Given the description of an element on the screen output the (x, y) to click on. 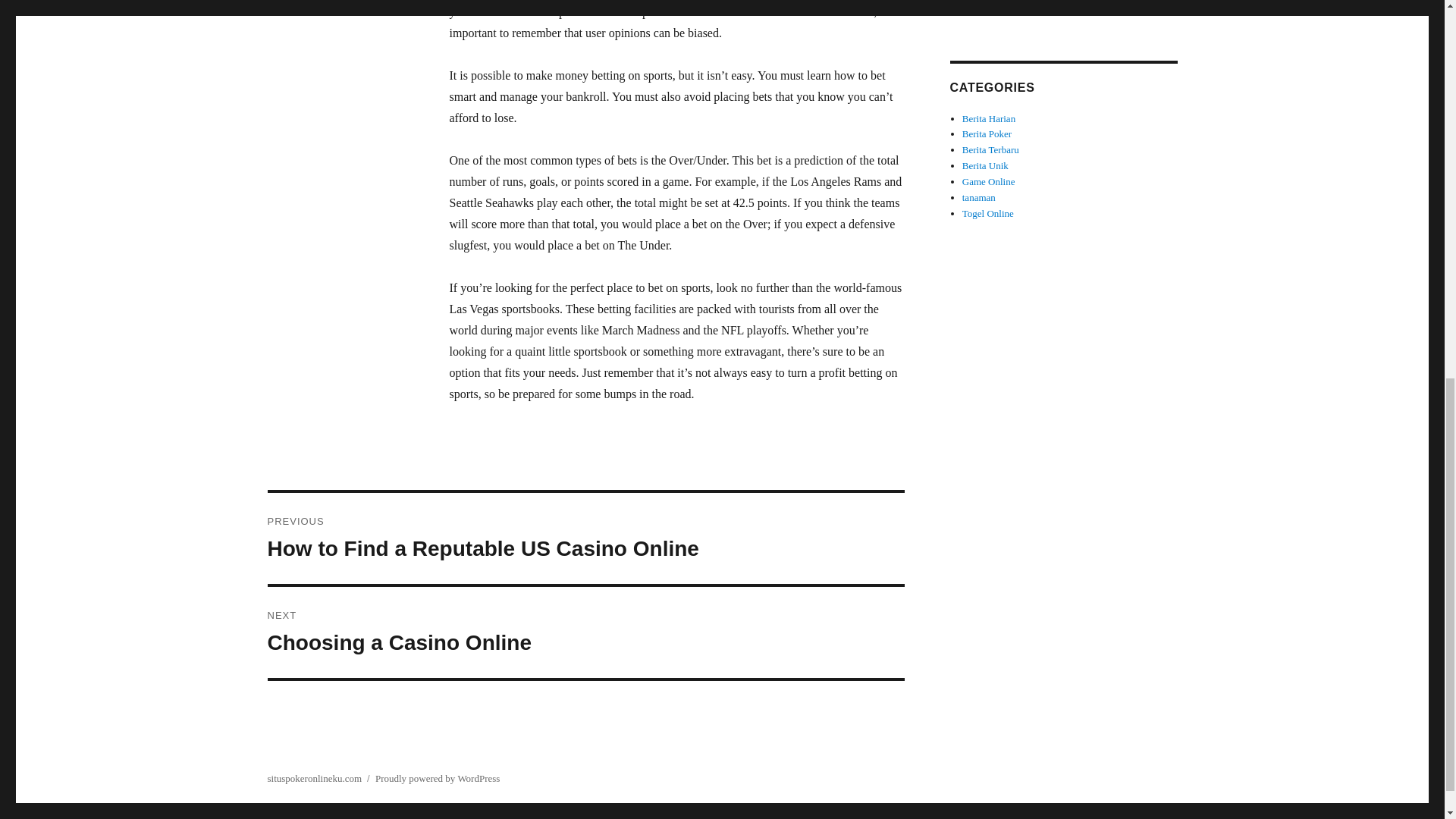
Game Online (988, 181)
Berita Terbaru (990, 149)
tanaman (978, 197)
situspokeronlineku.com (313, 778)
Togel Online (987, 213)
Berita Harian (988, 117)
Berita Unik (585, 632)
Berita Harian (985, 165)
